Given the description of an element on the screen output the (x, y) to click on. 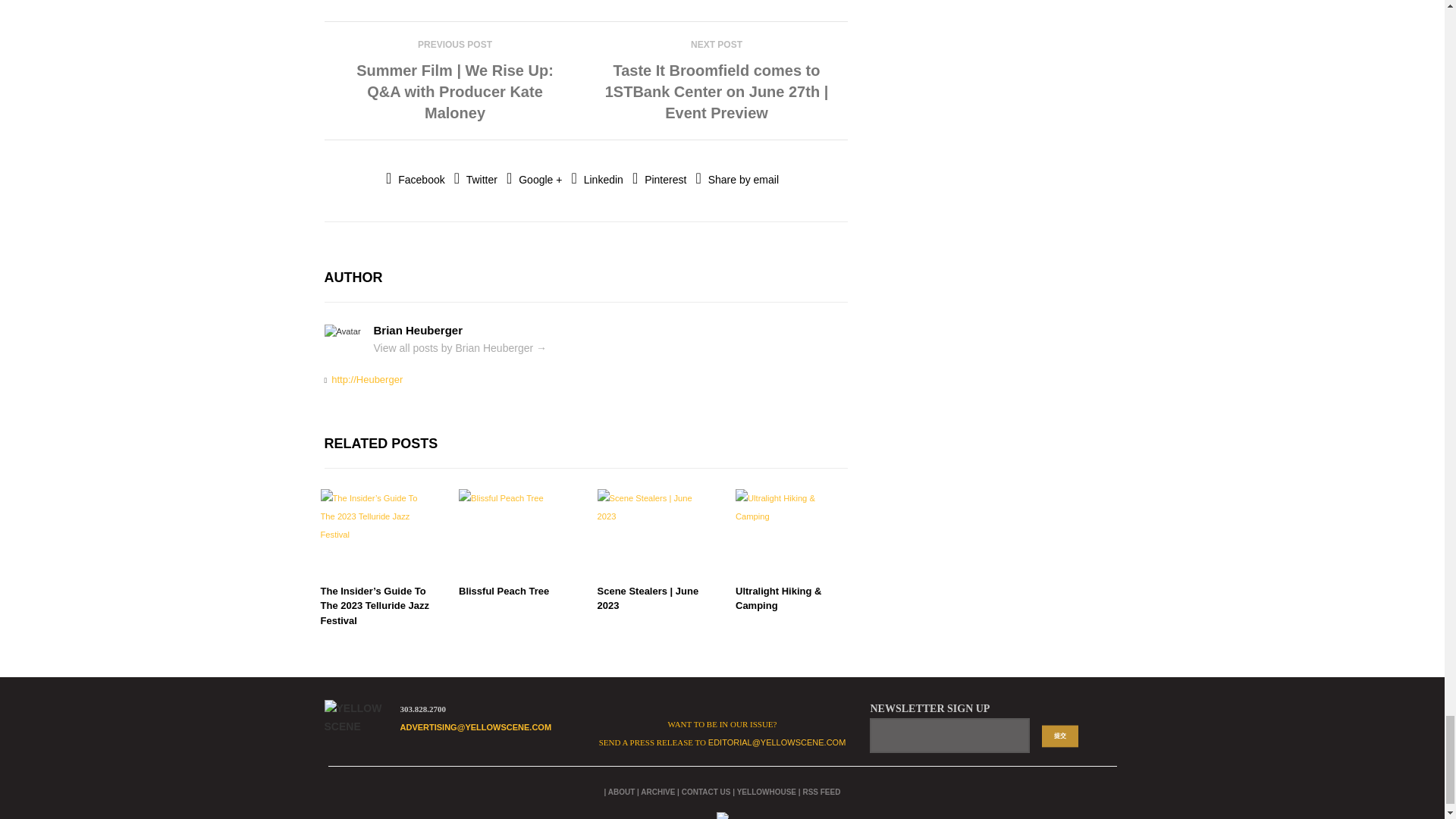
Share this post on Twitter! (475, 179)
Share this post on Facebook! (415, 179)
Share by email (736, 179)
Share on Pinterest (658, 179)
Share this post on Google Plus! (534, 179)
Share this post on Linkedin! (597, 179)
